Given the description of an element on the screen output the (x, y) to click on. 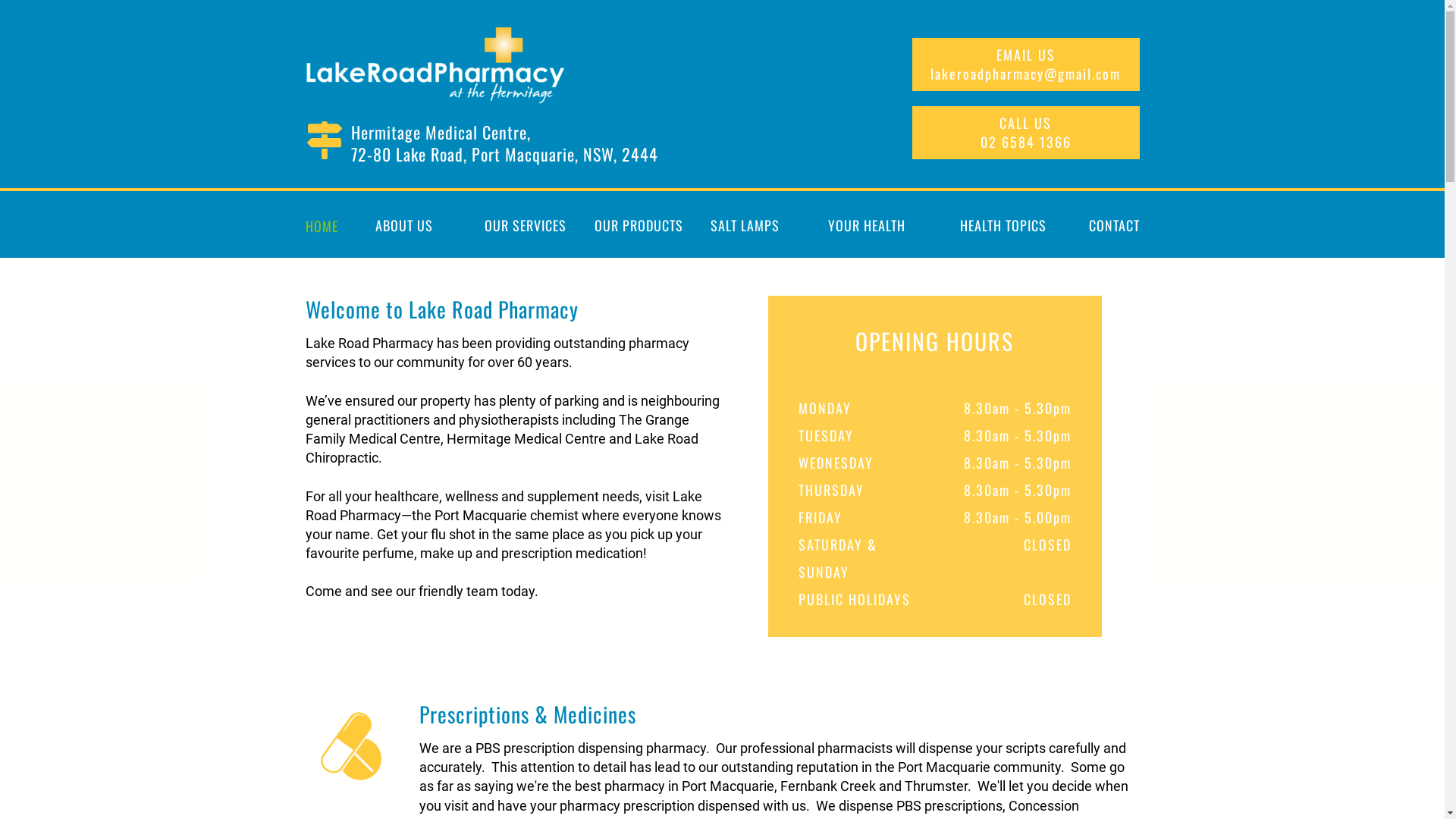
YOUR HEALTH Element type: text (865, 225)
OUR SERVICES Element type: text (524, 225)
CALL US
02 6584 1366 Element type: text (1025, 132)
EMAIL US
lakeroadpharmacy@gmail.com Element type: text (1025, 64)
CONTACT Element type: text (1108, 225)
SALT LAMPS Element type: text (744, 225)
OUR PRODUCTS Element type: text (638, 225)
ABOUT US Element type: text (403, 225)
HOME Element type: text (327, 226)
HEALTH TOPICS Element type: text (1002, 225)
